Given the description of an element on the screen output the (x, y) to click on. 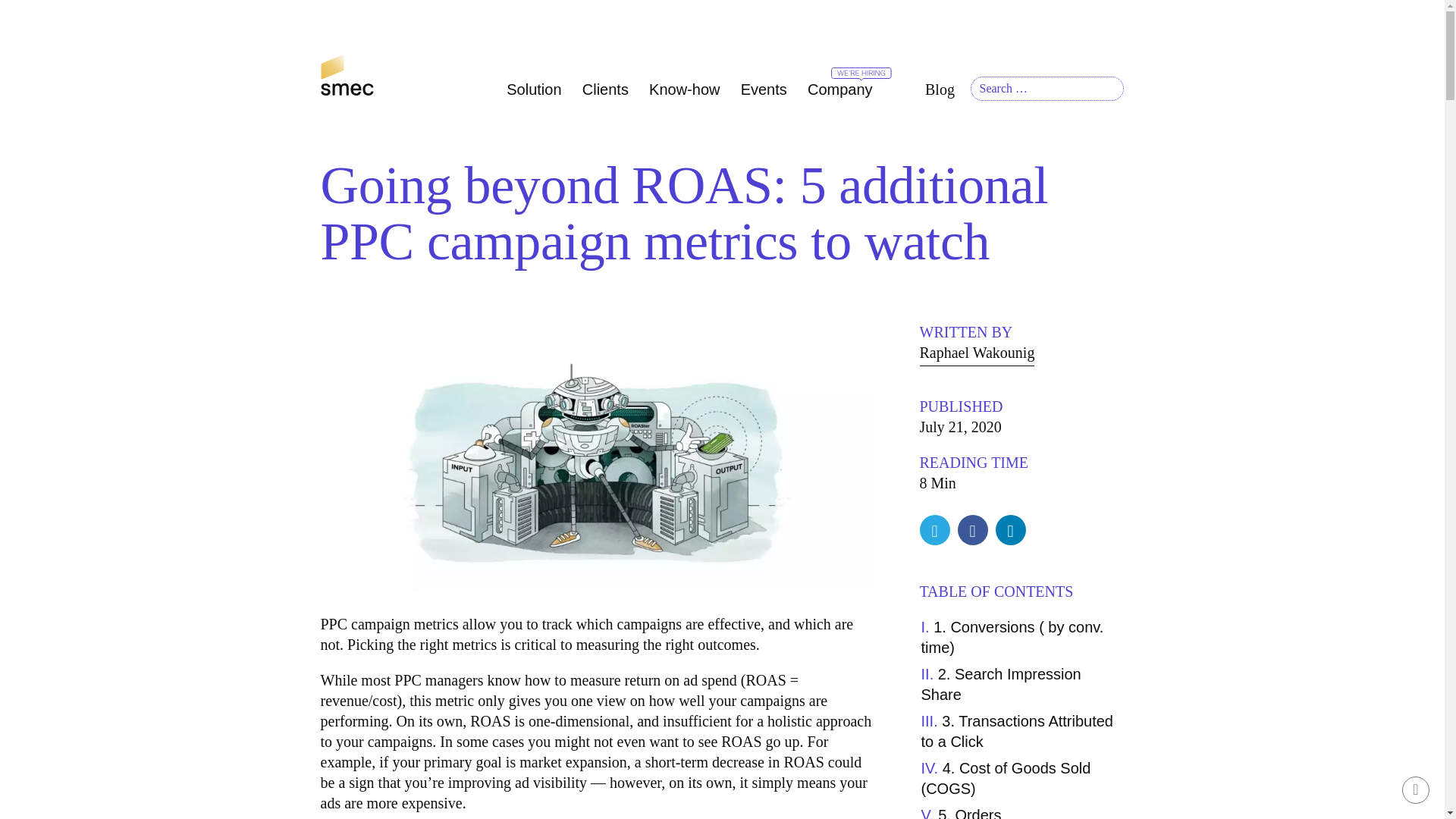
Know-how (684, 89)
Search (1089, 114)
Events (763, 89)
2. Search Impression Share (1000, 683)
Share on Twitter (933, 531)
Blog (938, 89)
3. Transactions Attributed to a Click (1016, 731)
Clients (605, 89)
Raphael Wakounig (975, 354)
5. Orders (960, 812)
